Given the description of an element on the screen output the (x, y) to click on. 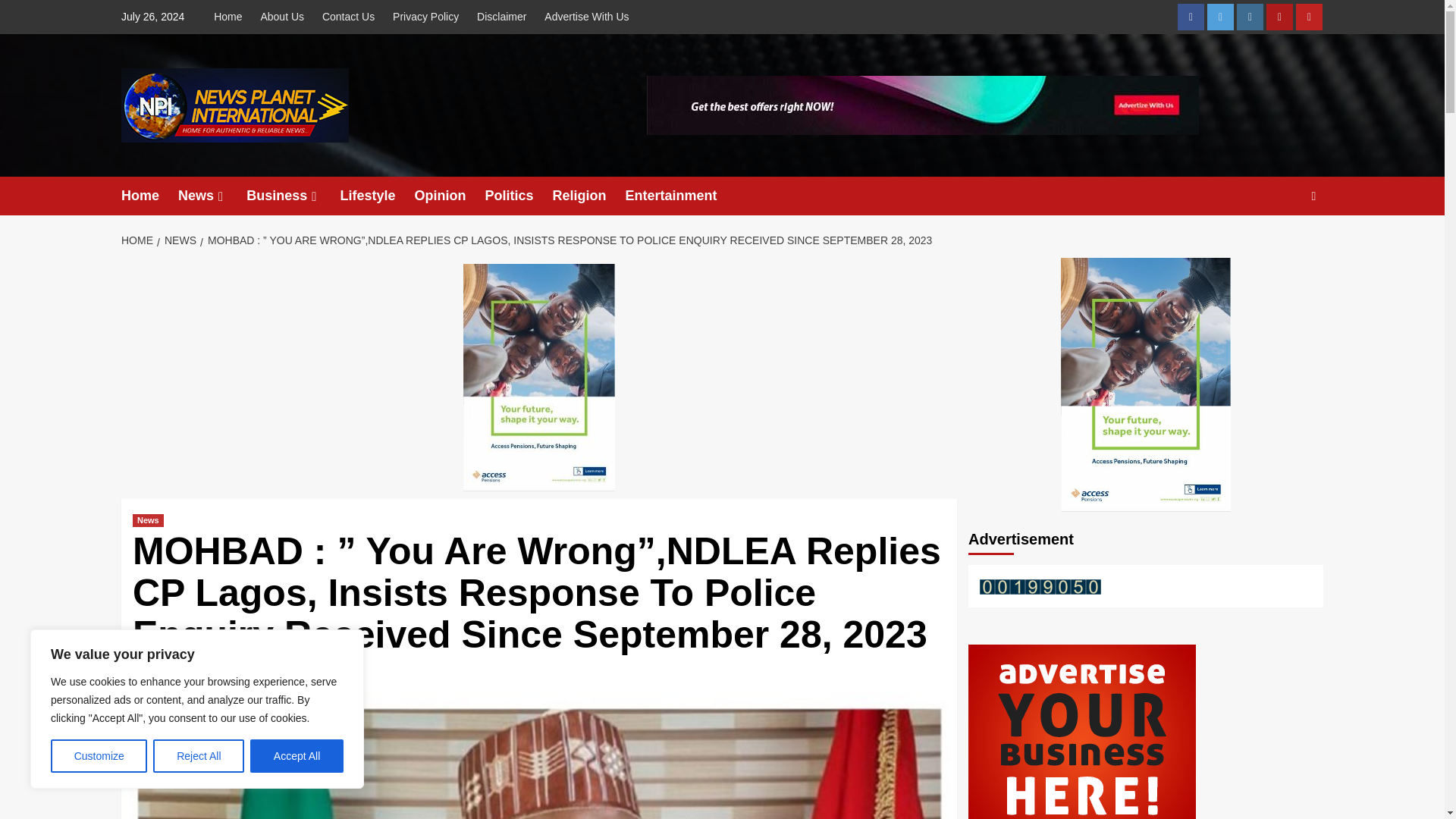
About Us (281, 17)
Home (148, 195)
Business (292, 195)
Accept All (296, 756)
Facebook (1190, 17)
News (211, 195)
Disclaimer (501, 17)
Click to see detail of visits and stats for this site (1039, 586)
Customize (98, 756)
Advertise With Us (586, 17)
Instagram (1249, 17)
Thread (1279, 17)
Privacy Policy (425, 17)
Youtube (1308, 17)
Reject All (198, 756)
